Given the description of an element on the screen output the (x, y) to click on. 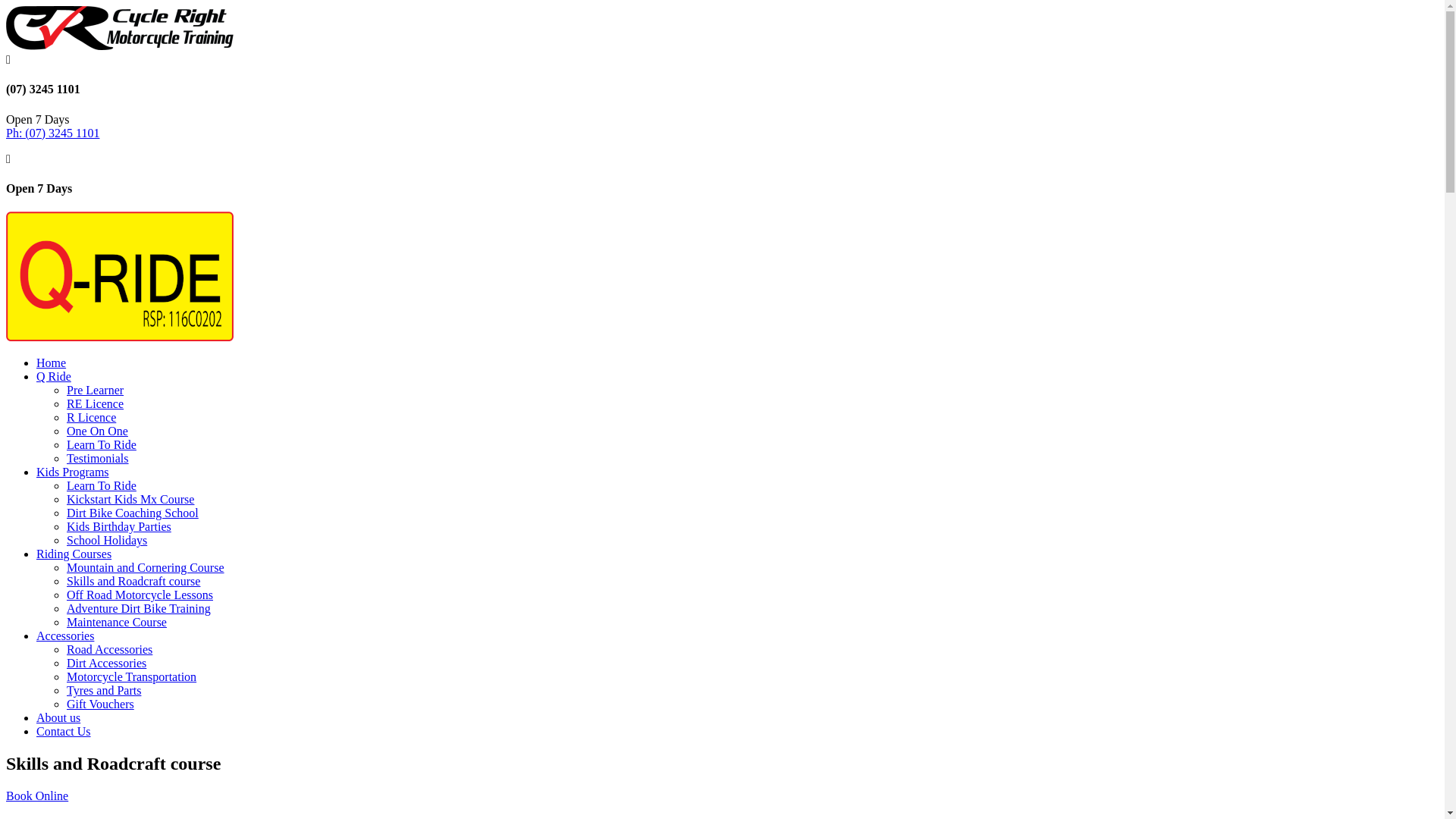
Home Element type: text (50, 362)
Maintenance Course Element type: text (116, 621)
Motorcycle Transportation Element type: text (131, 676)
Adventure Dirt Bike Training Element type: text (138, 608)
Ph: (07) 3245 1101 Element type: text (52, 132)
Road Accessories Element type: text (109, 649)
Kids Birthday Parties Element type: text (118, 526)
Riding Courses Element type: text (73, 553)
Dirt Accessories Element type: text (106, 662)
RE Licence Element type: text (94, 403)
Kickstart Kids Mx Course Element type: text (130, 498)
Accessories Element type: text (65, 635)
Skills and Roadcraft course Element type: text (133, 580)
Contact Us Element type: text (63, 730)
One On One Element type: text (97, 430)
Mountain and Cornering Course Element type: text (145, 567)
Dirt Bike Coaching School Element type: text (132, 512)
Q Ride Element type: text (53, 376)
About us Element type: text (58, 717)
Tyres and Parts Element type: text (103, 690)
R Licence Element type: text (91, 417)
Pre Learner Element type: text (94, 389)
Kids Programs Element type: text (72, 471)
Gift Vouchers Element type: text (100, 703)
Testimonials Element type: text (97, 457)
Book Online Element type: text (37, 795)
Learn To Ride Element type: text (101, 485)
Off Road Motorcycle Lessons Element type: text (139, 594)
School Holidays Element type: text (106, 539)
Learn To Ride Element type: text (101, 444)
